Given the description of an element on the screen output the (x, y) to click on. 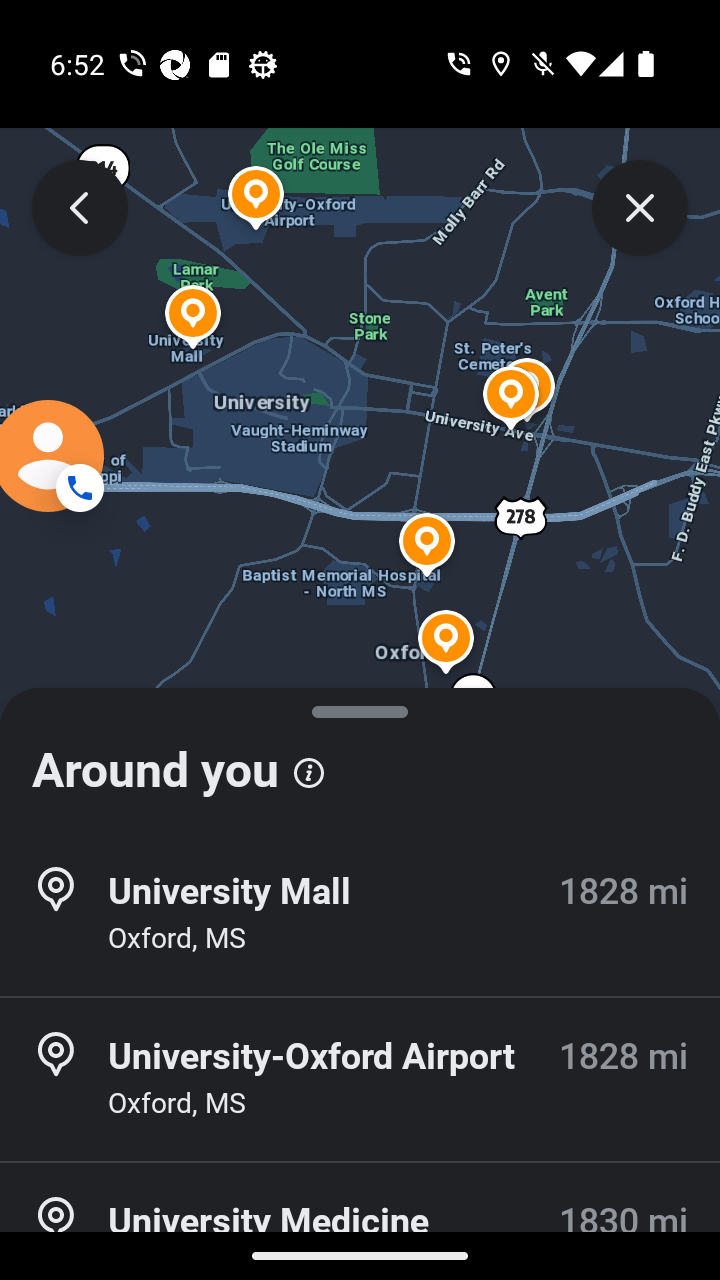
Around you (360, 760)
University Mall 1828 mi Oxford, MS (360, 914)
University-Oxford Airport 1828 mi Oxford, MS (360, 1079)
University Medicine 1830 mi Oxford, MS (360, 1221)
